Given the description of an element on the screen output the (x, y) to click on. 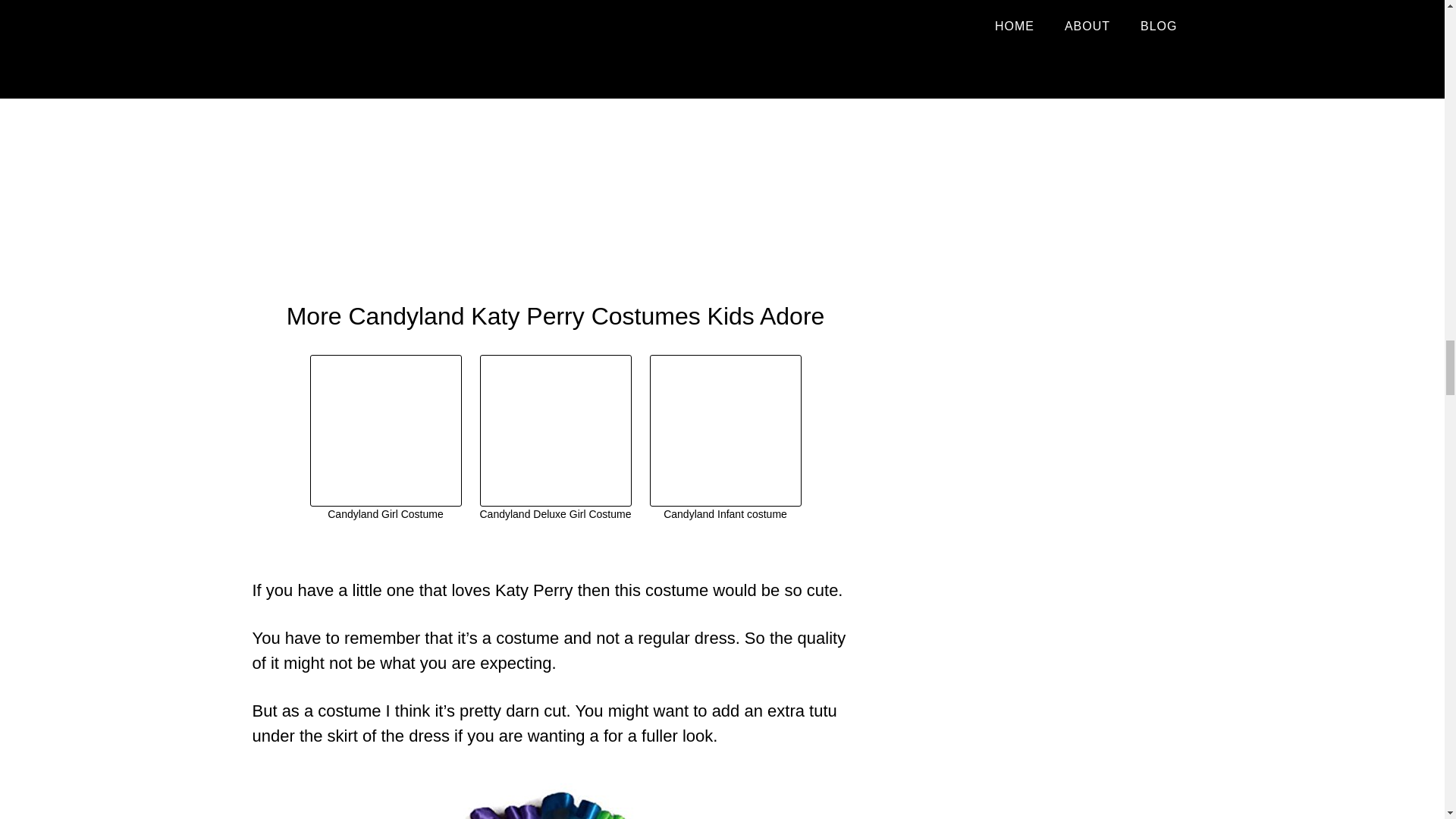
Candyland Infant costume (724, 438)
Candyland Deluxe Girl Costume (554, 438)
Candyland Girl Costume (384, 438)
